Given the description of an element on the screen output the (x, y) to click on. 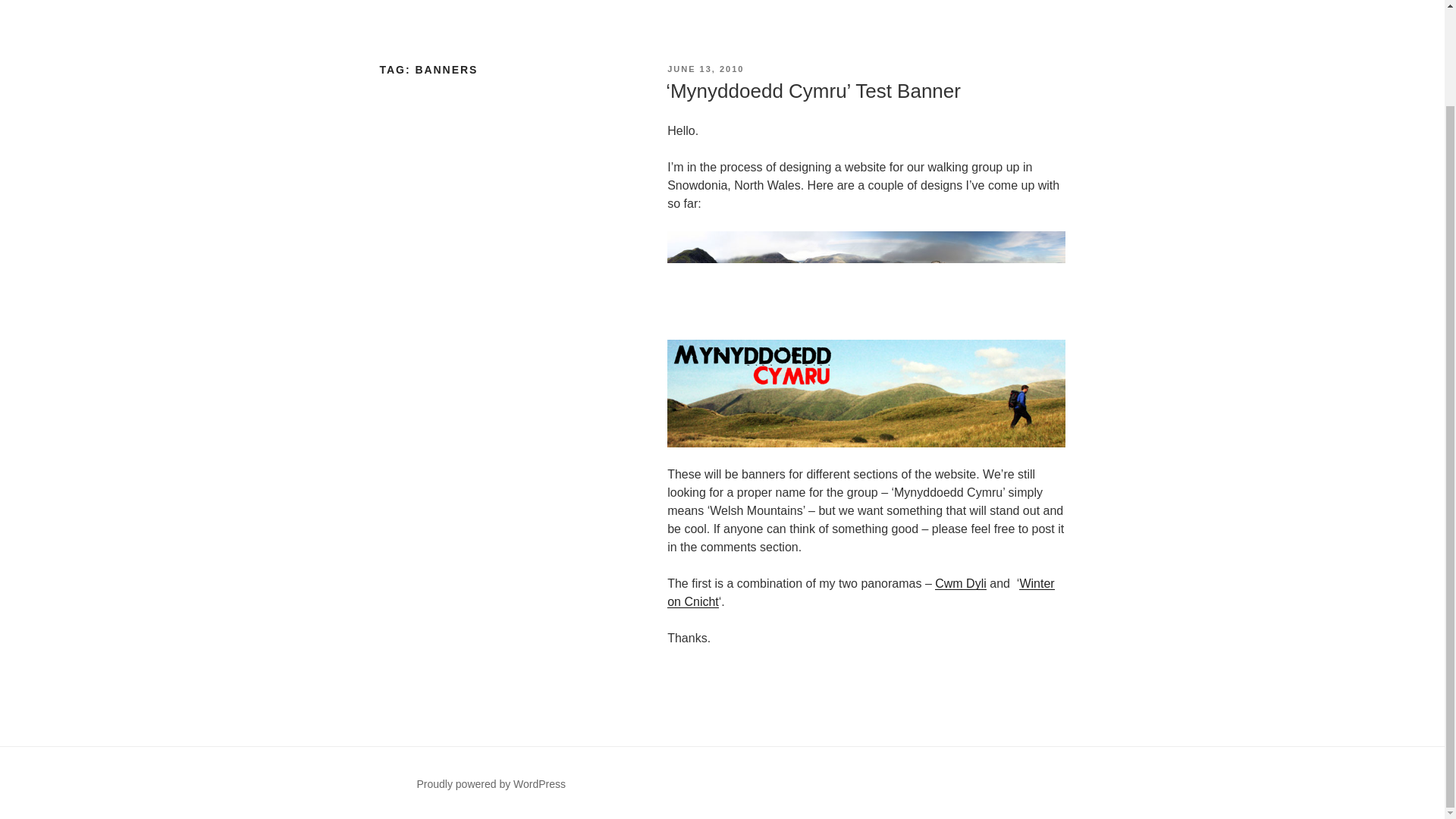
JUNE 13, 2010 (705, 68)
Proudly powered by WordPress (491, 784)
Winter on Cnicht (860, 592)
Cwm Dyli (960, 583)
Banner2 (865, 393)
